Given the description of an element on the screen output the (x, y) to click on. 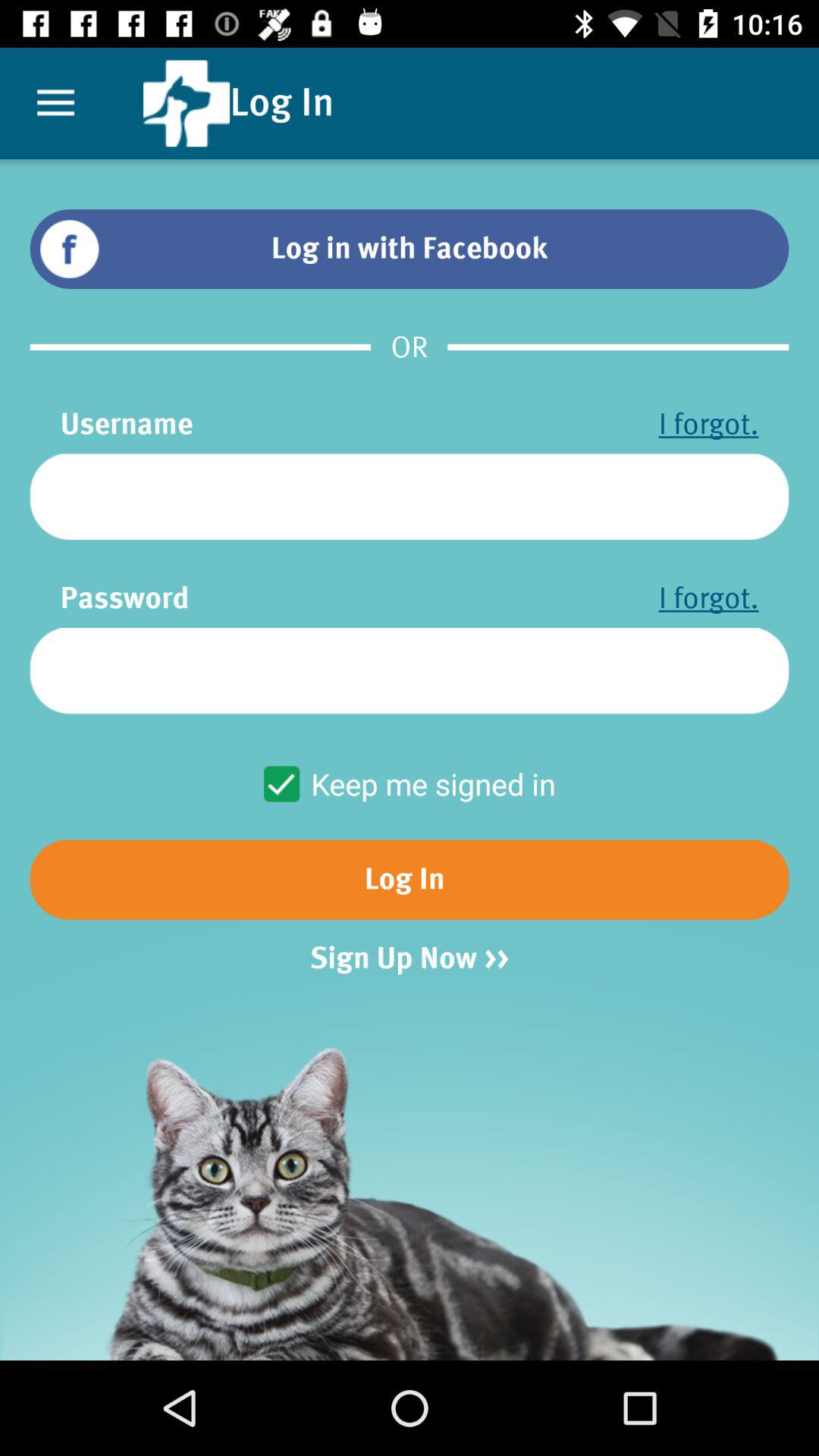
enter user password (409, 670)
